Given the description of an element on the screen output the (x, y) to click on. 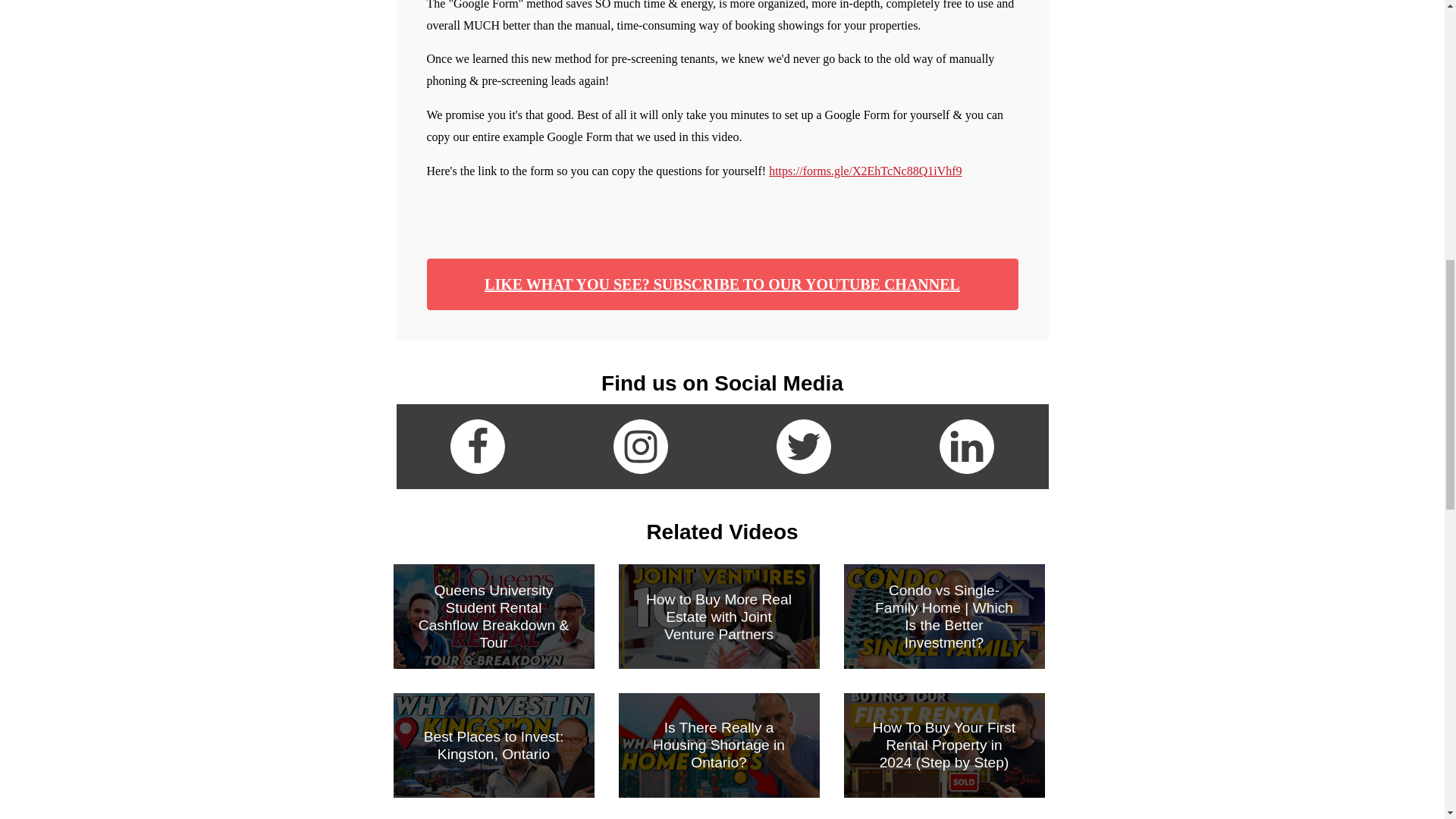
Best Places to Invest: Kingston, Ontario (492, 744)
LIKE WHAT YOU SEE? SUBSCRIBE TO OUR YOUTUBE CHANNEL (721, 284)
Is There Really a Housing Shortage in Ontario? (719, 744)
How to Buy More Real Estate with Joint Venture Partners (719, 616)
